Given the description of an element on the screen output the (x, y) to click on. 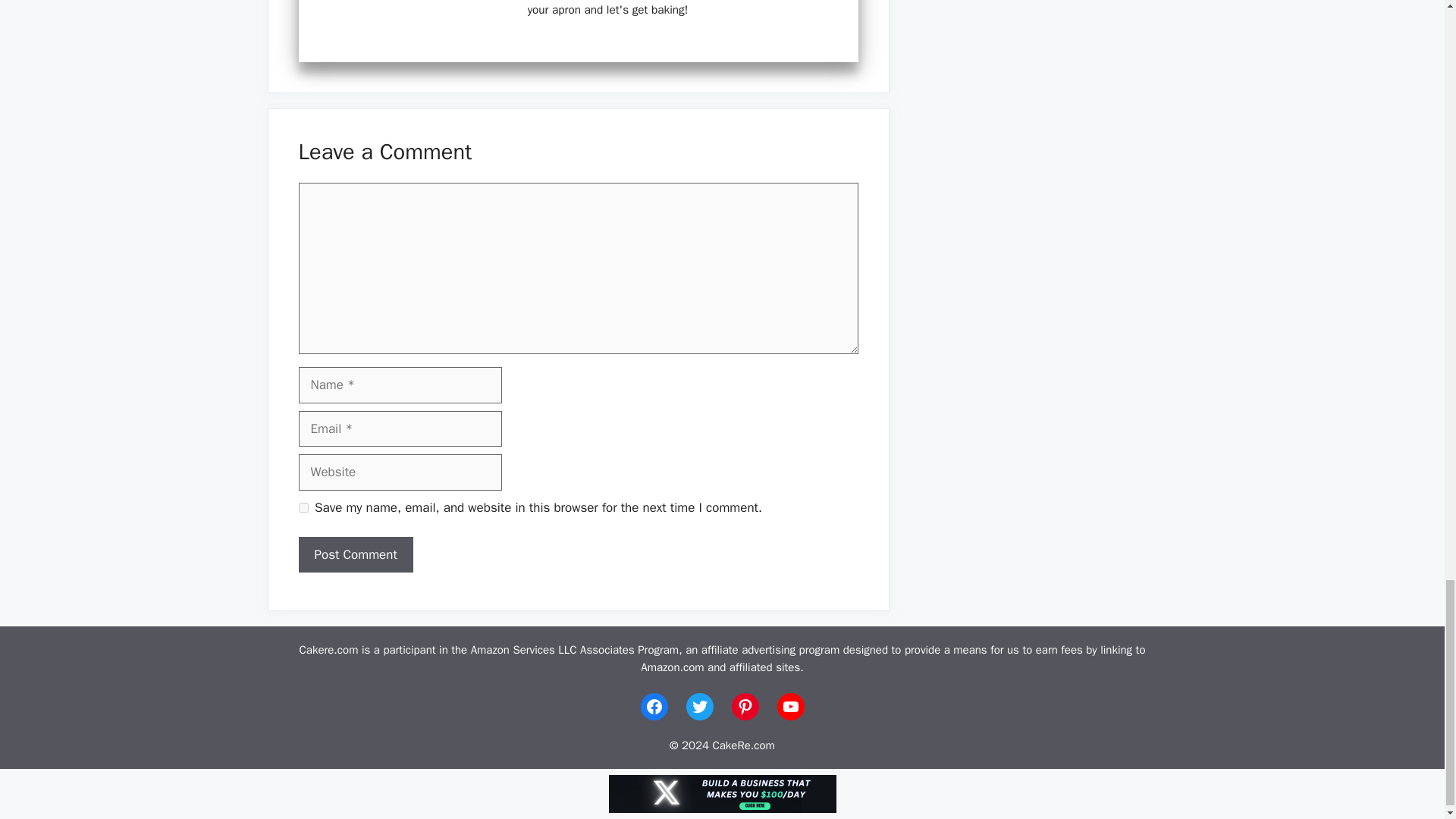
yes (303, 507)
Twitter (699, 706)
Post Comment (355, 555)
YouTube (789, 706)
Facebook (653, 706)
Post Comment (355, 555)
Pinterest (744, 706)
